Given the description of an element on the screen output the (x, y) to click on. 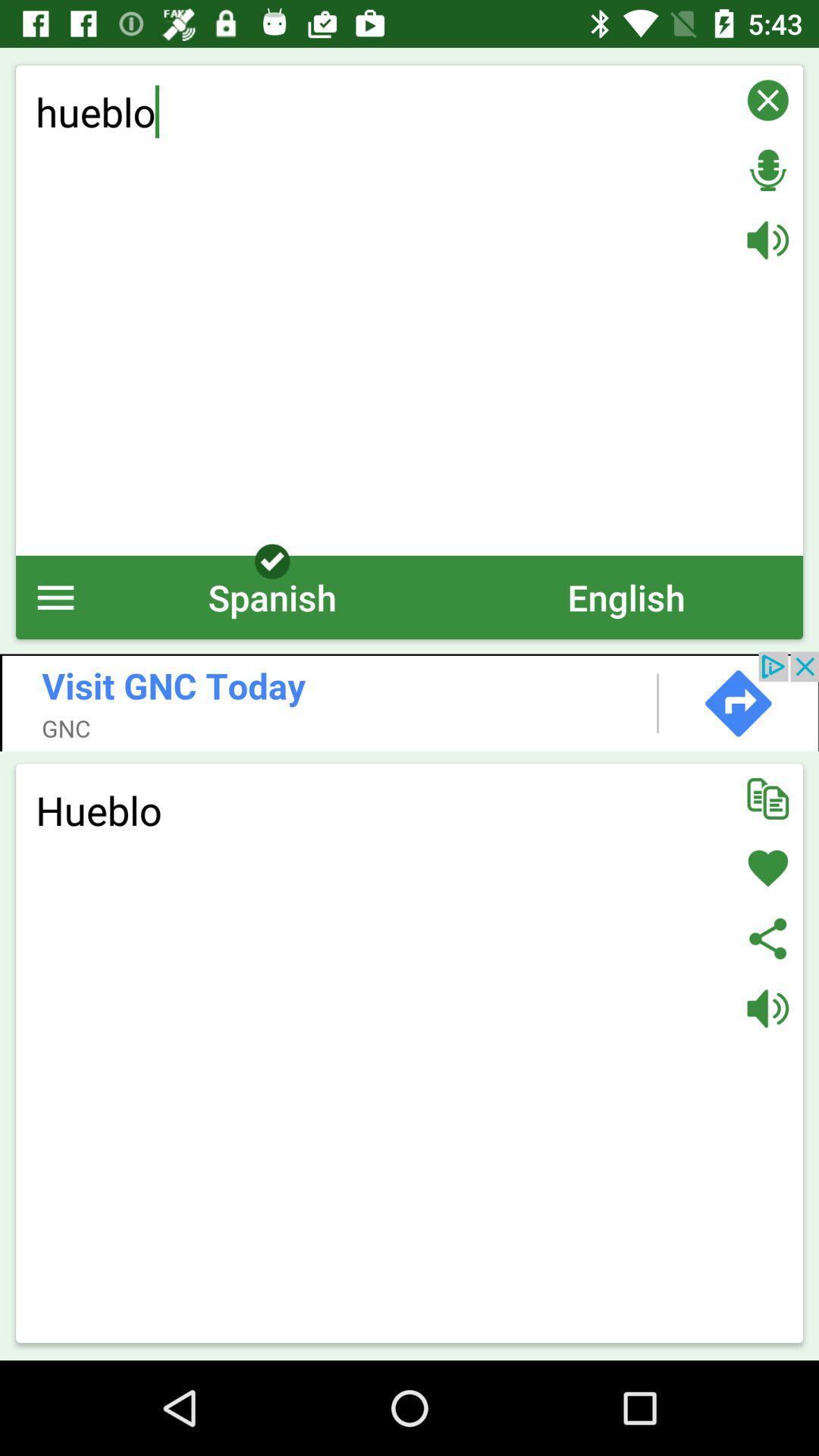
open the item below hueblo (272, 597)
